Given the description of an element on the screen output the (x, y) to click on. 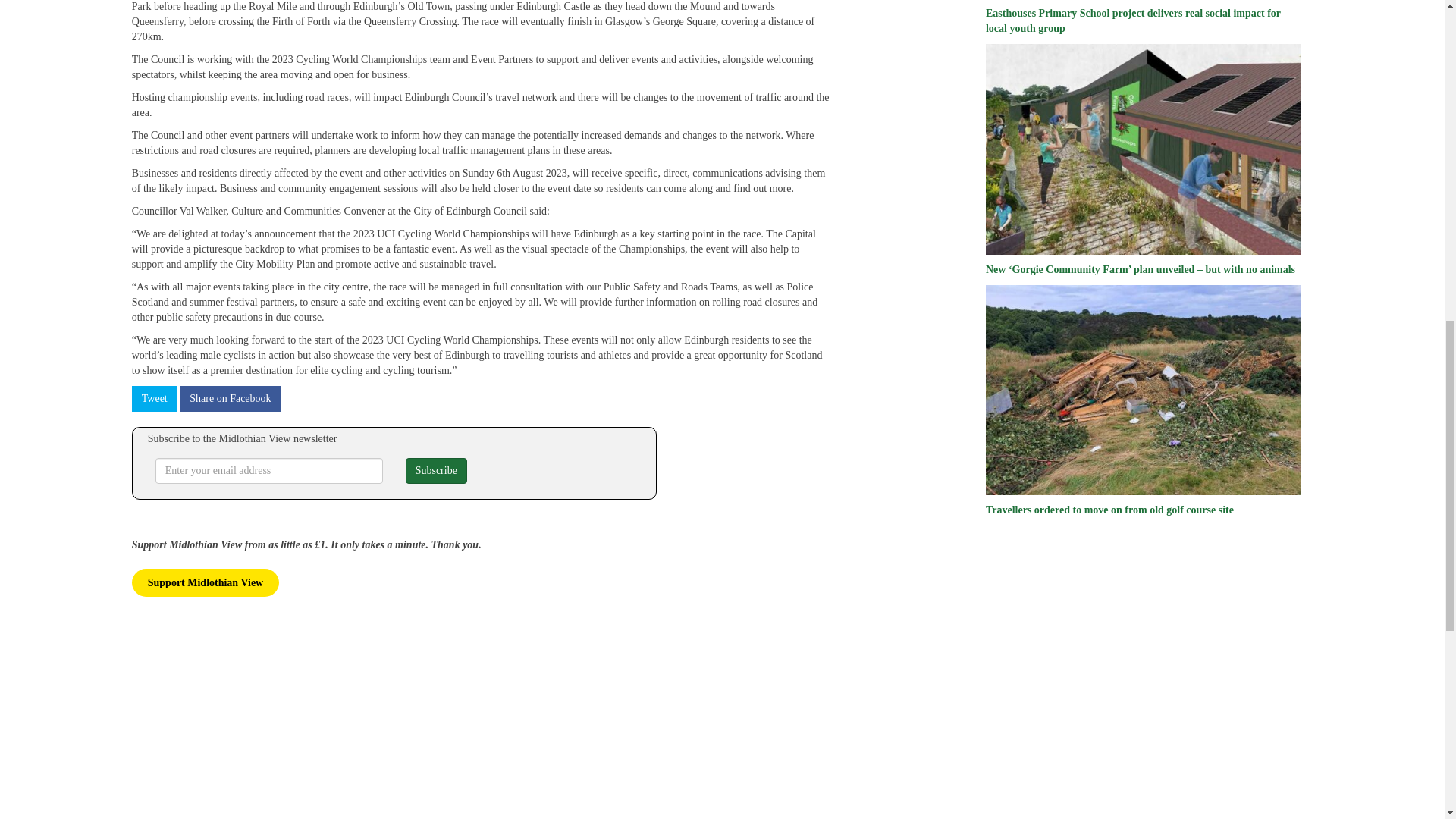
Tweet (154, 398)
Subscribe (436, 470)
Share on Twitter (154, 398)
Share on Facebook (230, 398)
Share on Facebook (230, 398)
